Given the description of an element on the screen output the (x, y) to click on. 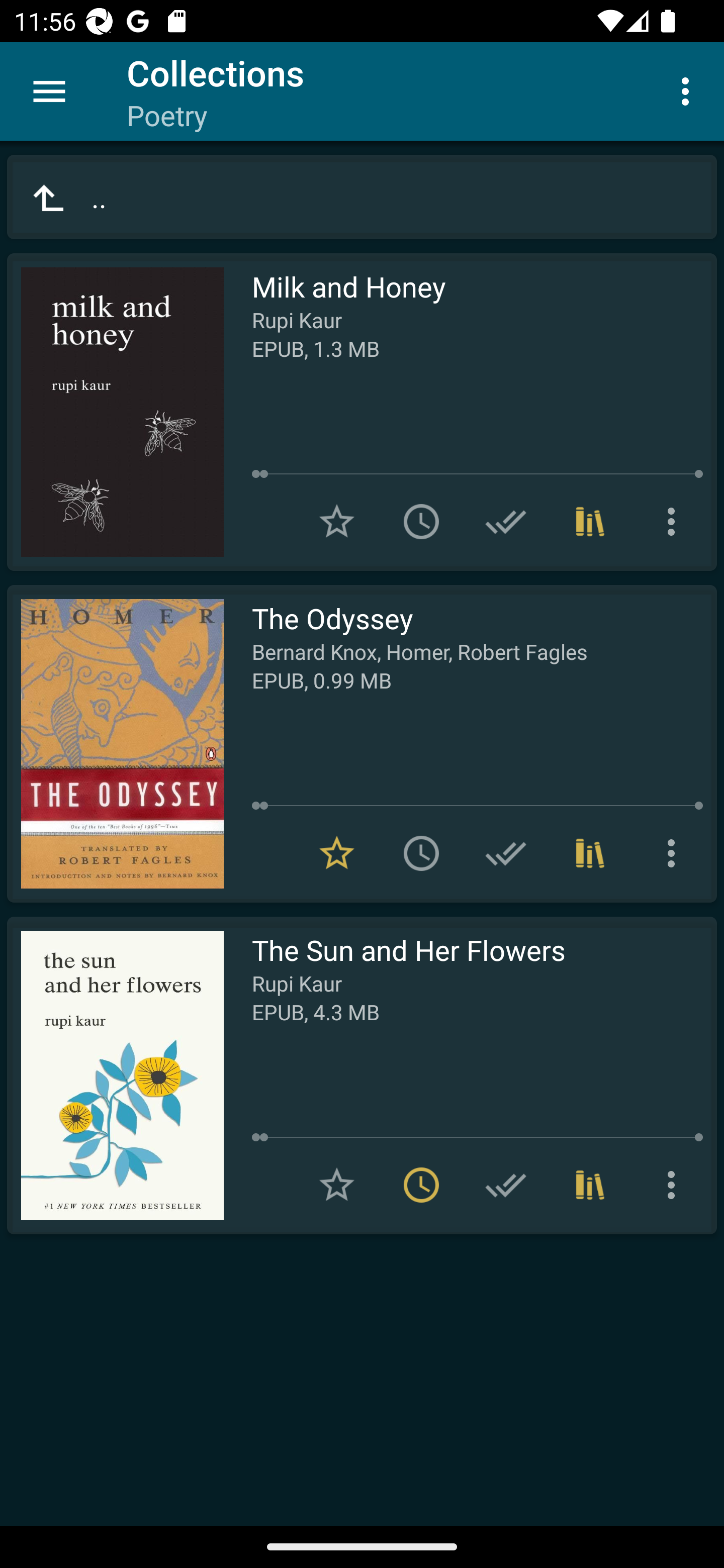
Menu (49, 91)
More options (688, 90)
.. (361, 197)
Read Milk and Honey (115, 412)
Add to Favorites (336, 521)
Add to To read (421, 521)
Add to Have read (505, 521)
Collections (1) (590, 521)
More options (674, 521)
Read The Odyssey (115, 743)
Remove from Favorites (336, 852)
Add to To read (421, 852)
Add to Have read (505, 852)
Collections (1) (590, 852)
More options (674, 852)
Read The Sun and Her Flowers (115, 1075)
Add to Favorites (336, 1185)
Remove from To read (421, 1185)
Add to Have read (505, 1185)
Collections (1) (590, 1185)
More options (674, 1185)
